Given the description of an element on the screen output the (x, y) to click on. 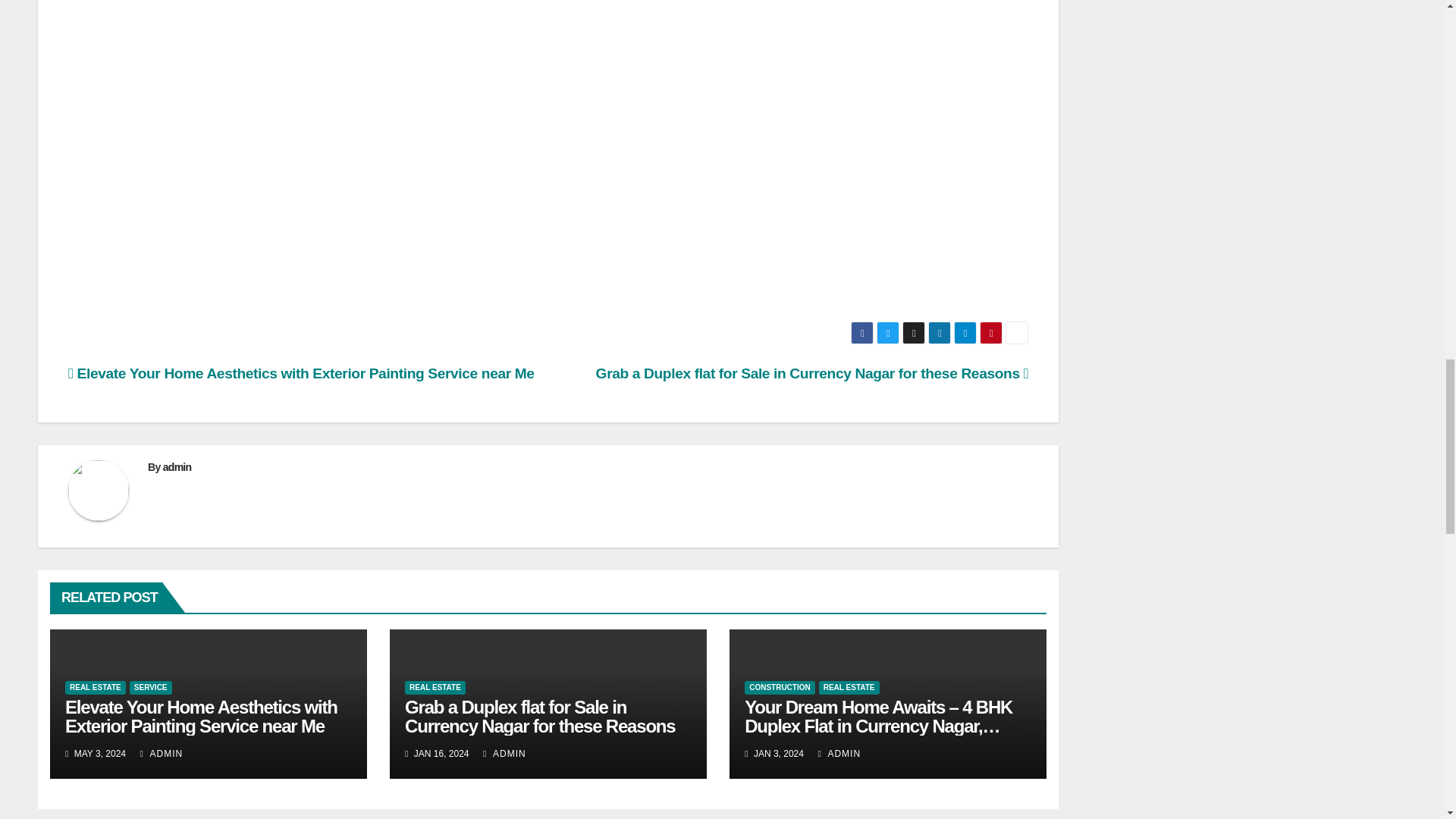
ADMIN (504, 753)
SERVICE (150, 687)
admin (177, 467)
REAL ESTATE (848, 687)
ADMIN (161, 753)
CONSTRUCTION (779, 687)
REAL ESTATE (95, 687)
REAL ESTATE (434, 687)
ADMIN (838, 753)
